Given the description of an element on the screen output the (x, y) to click on. 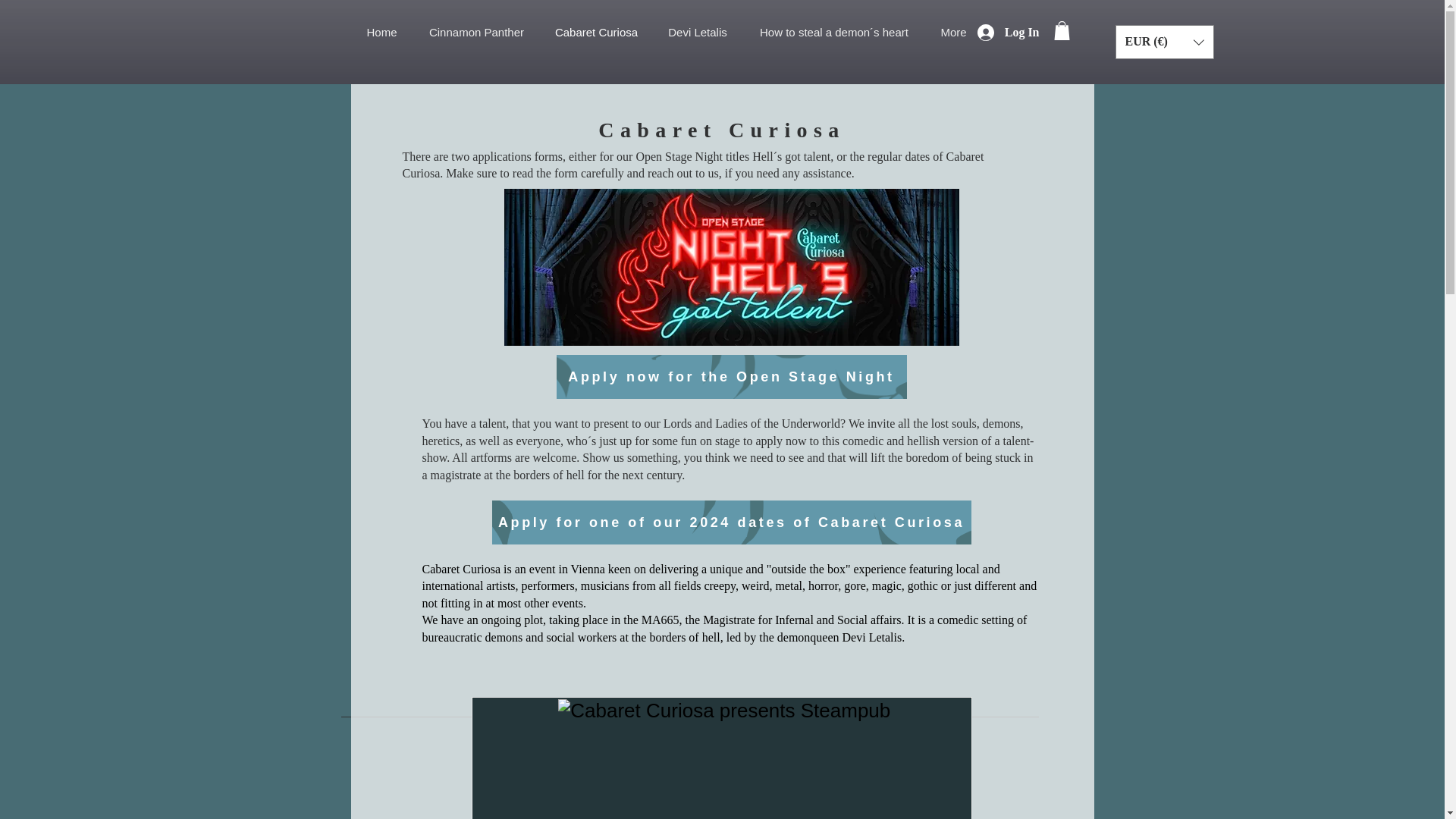
WhatsApp Image 2022-12-19 at 13.54.03.jp (730, 267)
Apply for one of our 2024 dates of Cabaret Curiosa (731, 522)
Devi Letalis (697, 32)
Apply now for the Open Stage Night (731, 376)
Cabaret Curiosa (596, 32)
Home (381, 32)
Cinnamon Panther (476, 32)
Log In (1007, 32)
